Given the description of an element on the screen output the (x, y) to click on. 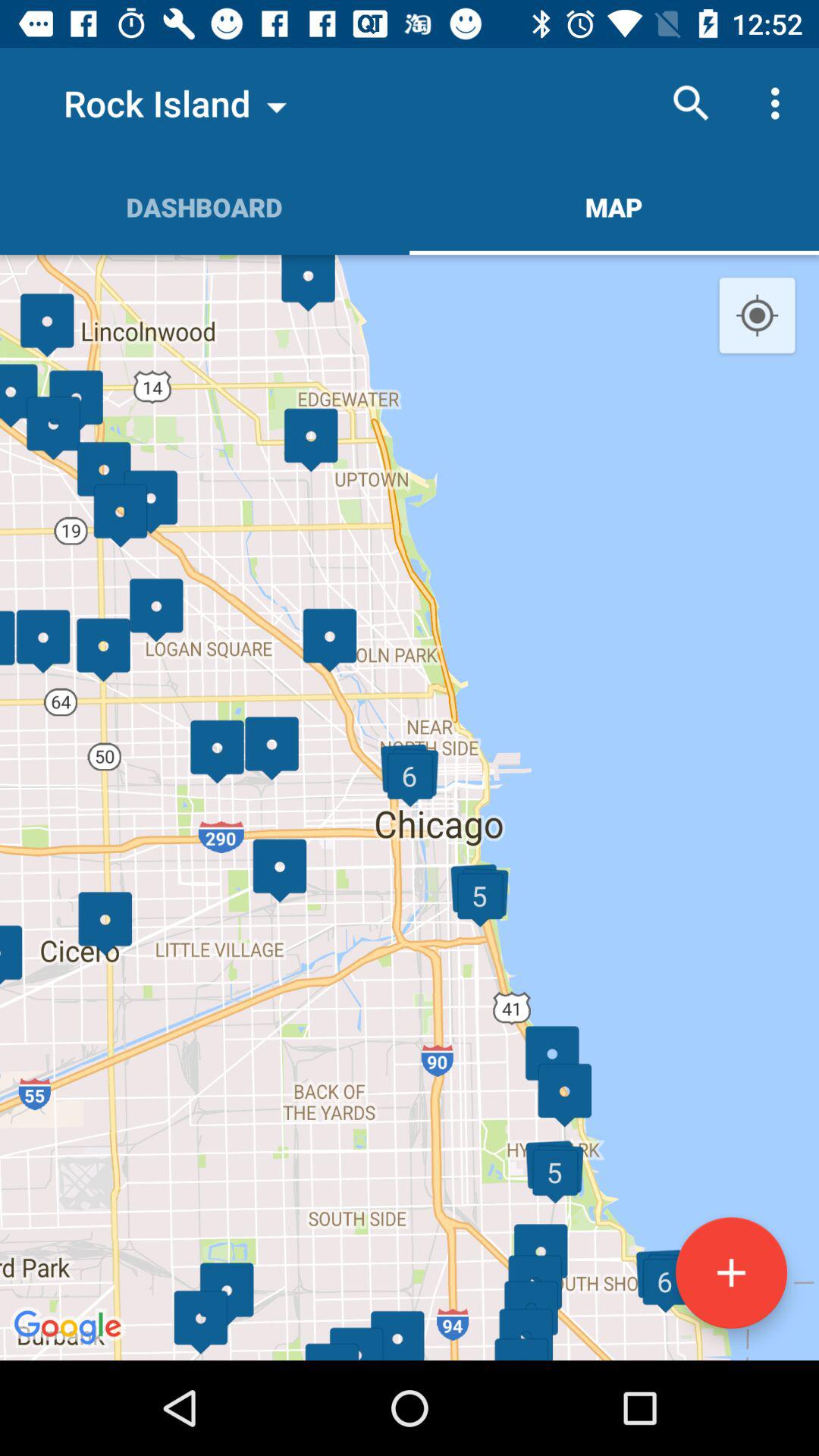
open the item above map item (691, 103)
